Given the description of an element on the screen output the (x, y) to click on. 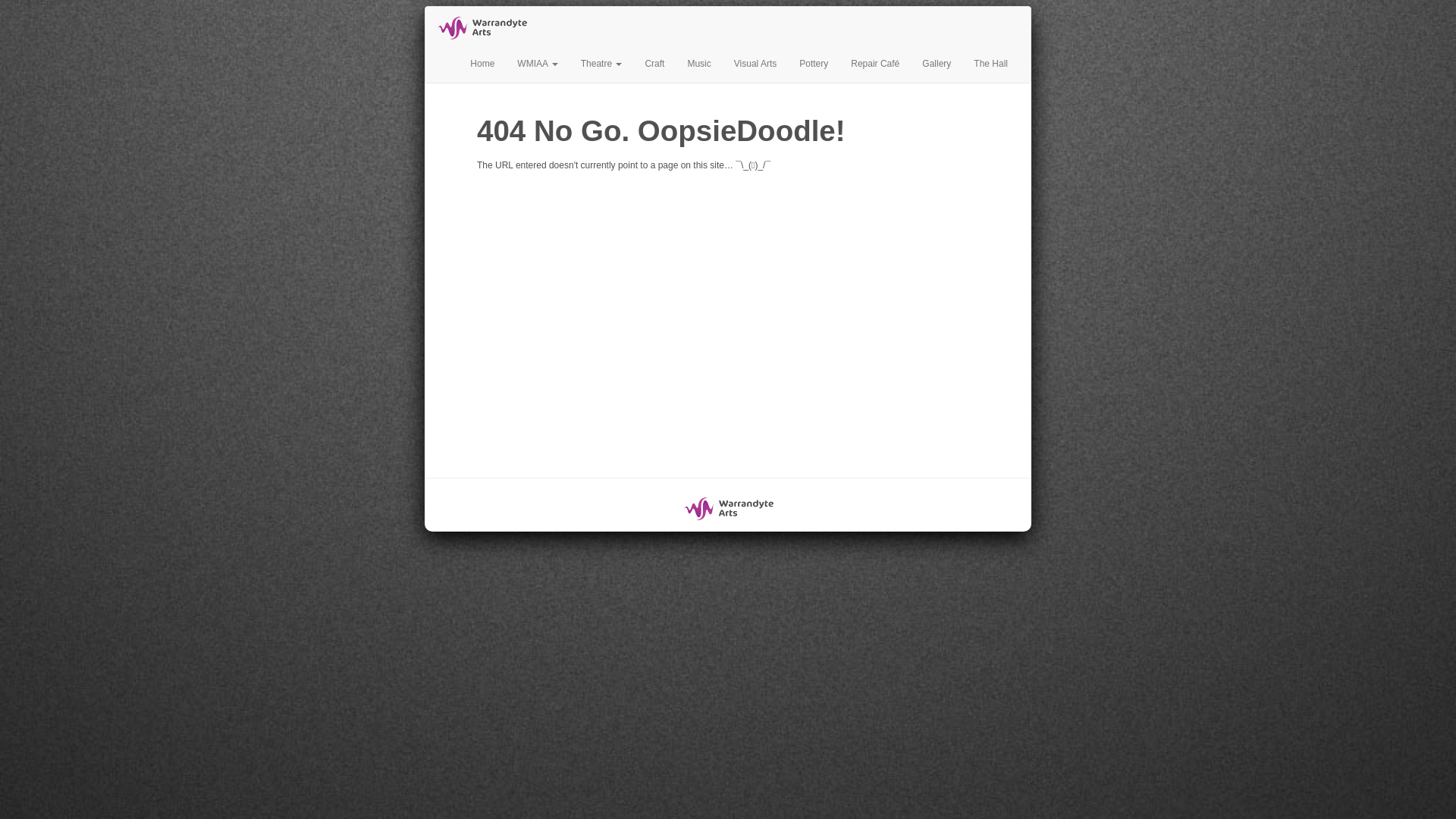
Theatre Element type: text (601, 63)
The Hall Element type: text (990, 63)
Gallery Element type: text (936, 63)
Music Element type: text (698, 63)
Home Element type: text (481, 63)
Pottery Element type: text (813, 63)
Craft Element type: text (654, 63)
Visual Arts Element type: text (754, 63)
WMIAA Element type: text (536, 63)
